Given the description of an element on the screen output the (x, y) to click on. 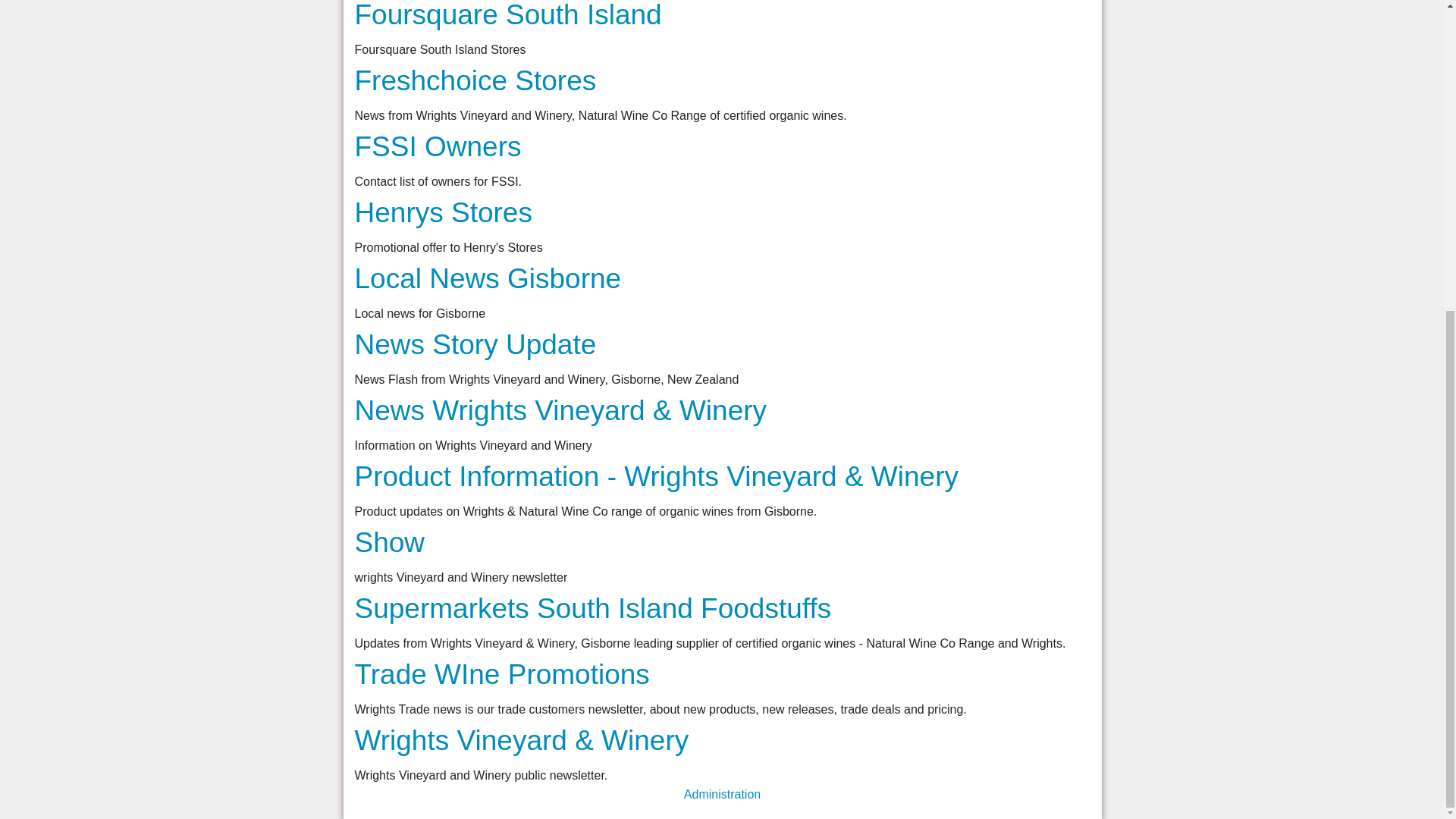
Freshchoice Stores (475, 80)
Henrys Stores (443, 212)
Show (390, 542)
FSSI Owners (438, 146)
Supermarkets South Island Foodstuffs (593, 608)
Trade WIne Promotions (502, 674)
Local News Gisborne (488, 278)
Administration (722, 793)
News Story Update (475, 344)
Foursquare South Island (508, 15)
